Given the description of an element on the screen output the (x, y) to click on. 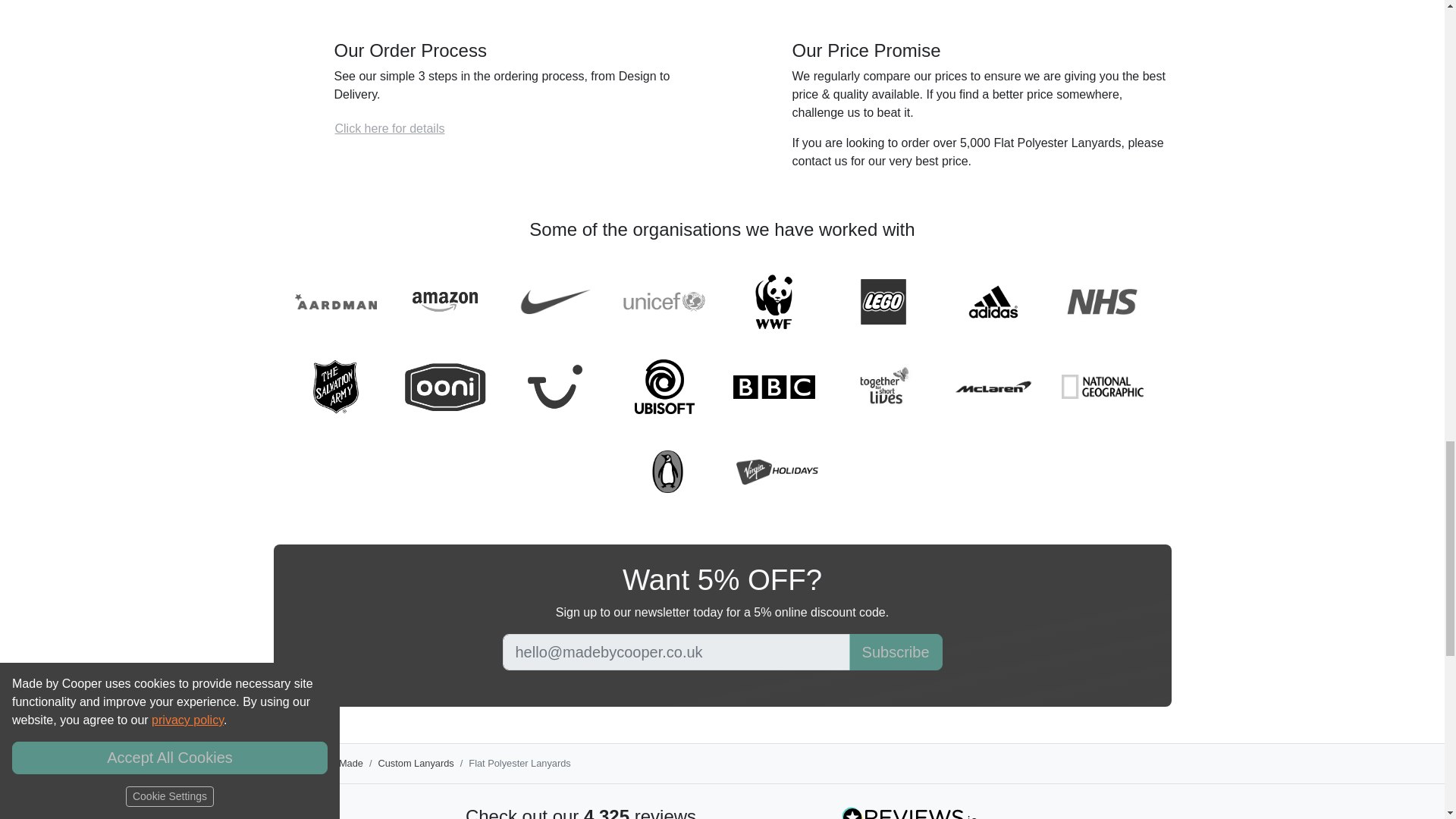
Subscribe (895, 651)
Click here for details (389, 128)
Home (279, 763)
Custom Made (332, 763)
Home (279, 763)
